Given the description of an element on the screen output the (x, y) to click on. 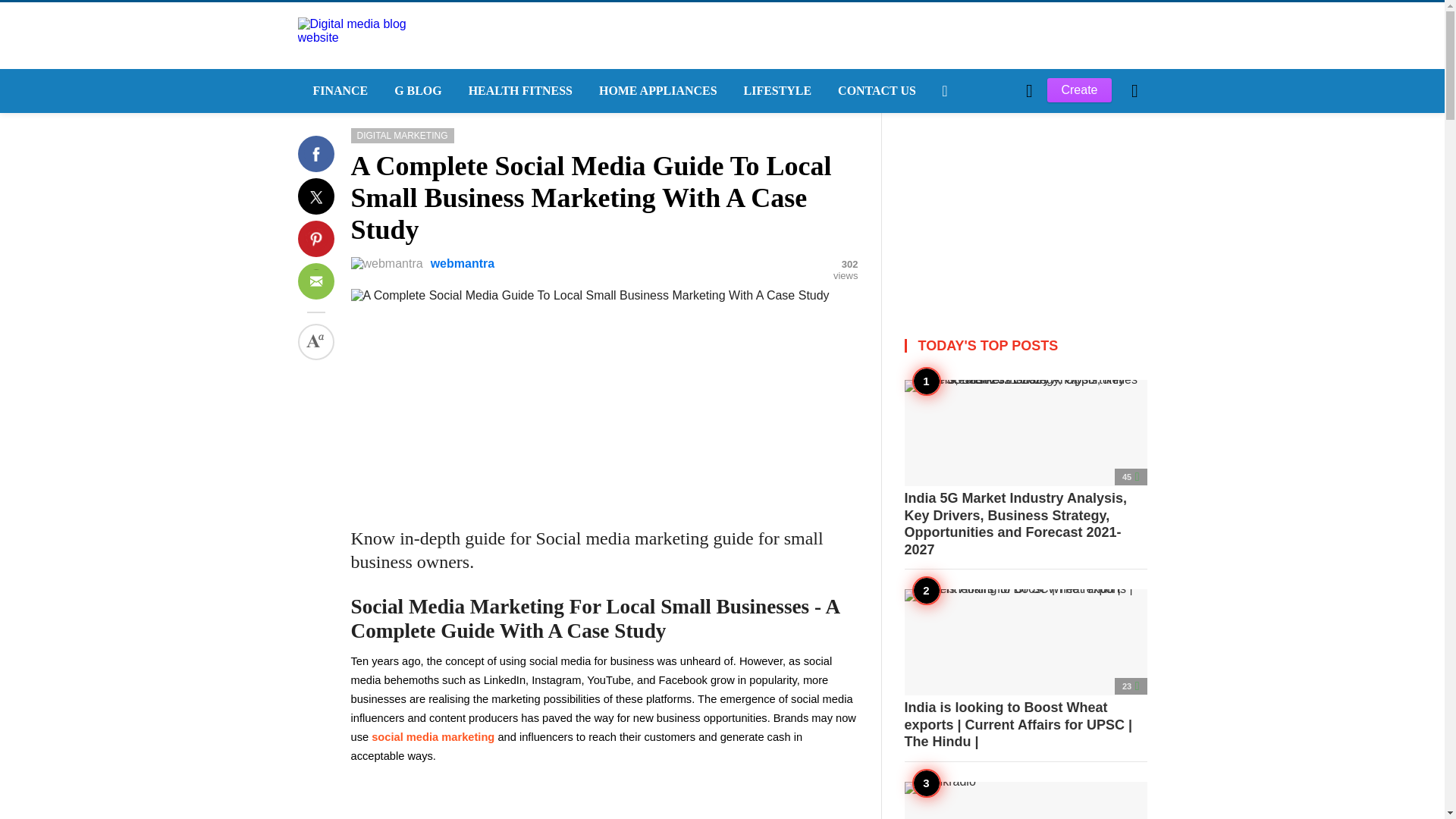
HEALTH FITNESS (517, 90)
Log in (962, 347)
sign up (964, 347)
LIFESTYLE (776, 90)
FINANCE (337, 90)
spankradio (1025, 800)
G BLOG (415, 90)
CONTACT US (874, 90)
HOME APPLIANCES (656, 90)
Advertisement (1025, 207)
Advertisement (603, 408)
